Given the description of an element on the screen output the (x, y) to click on. 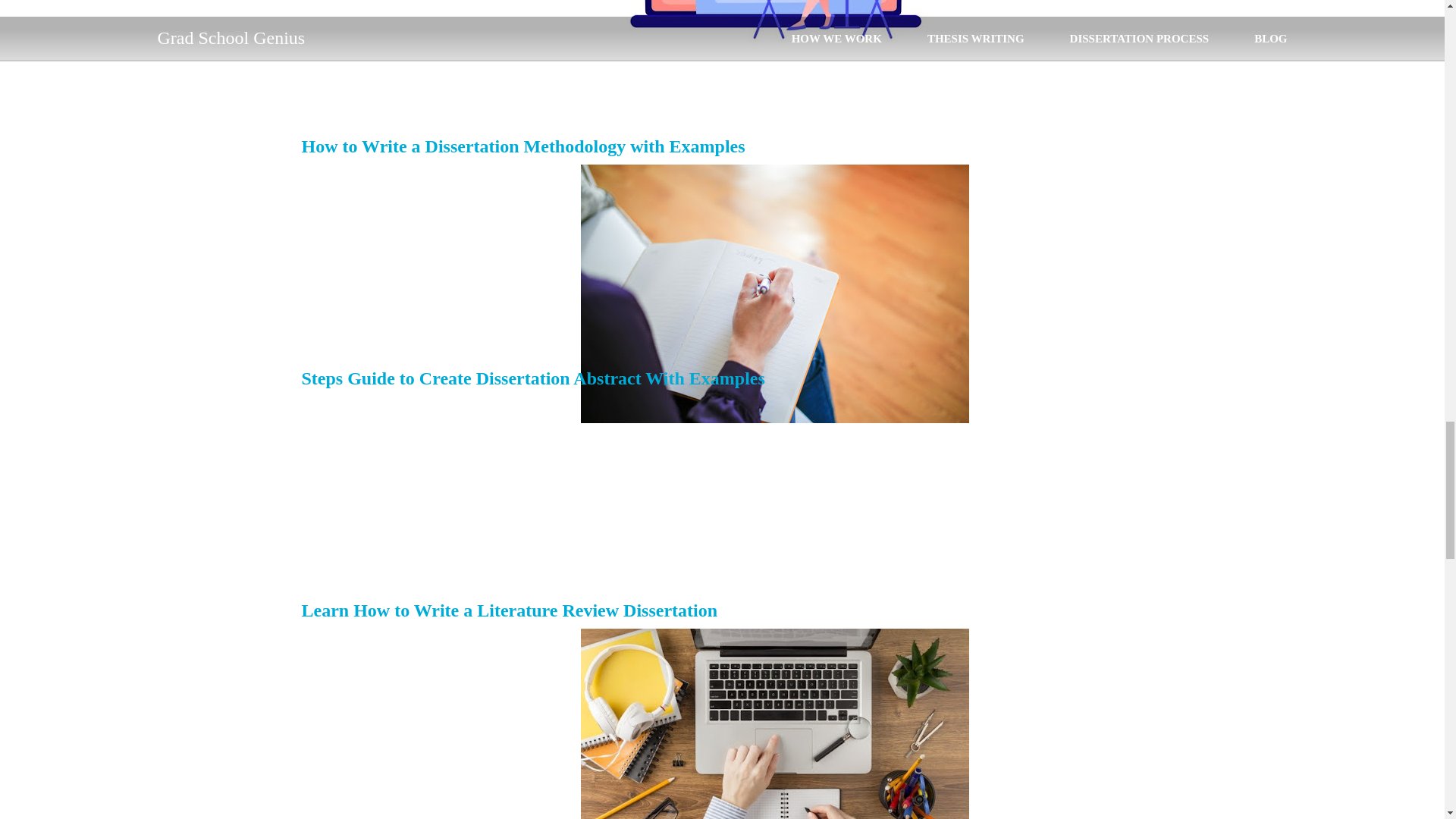
How to Write a Dissertation Methodology with Examples (523, 146)
Steps Guide to Create Dissertation Abstract With Examples (533, 378)
Learn How to Write a Literature Review Dissertation (509, 609)
